Given the description of an element on the screen output the (x, y) to click on. 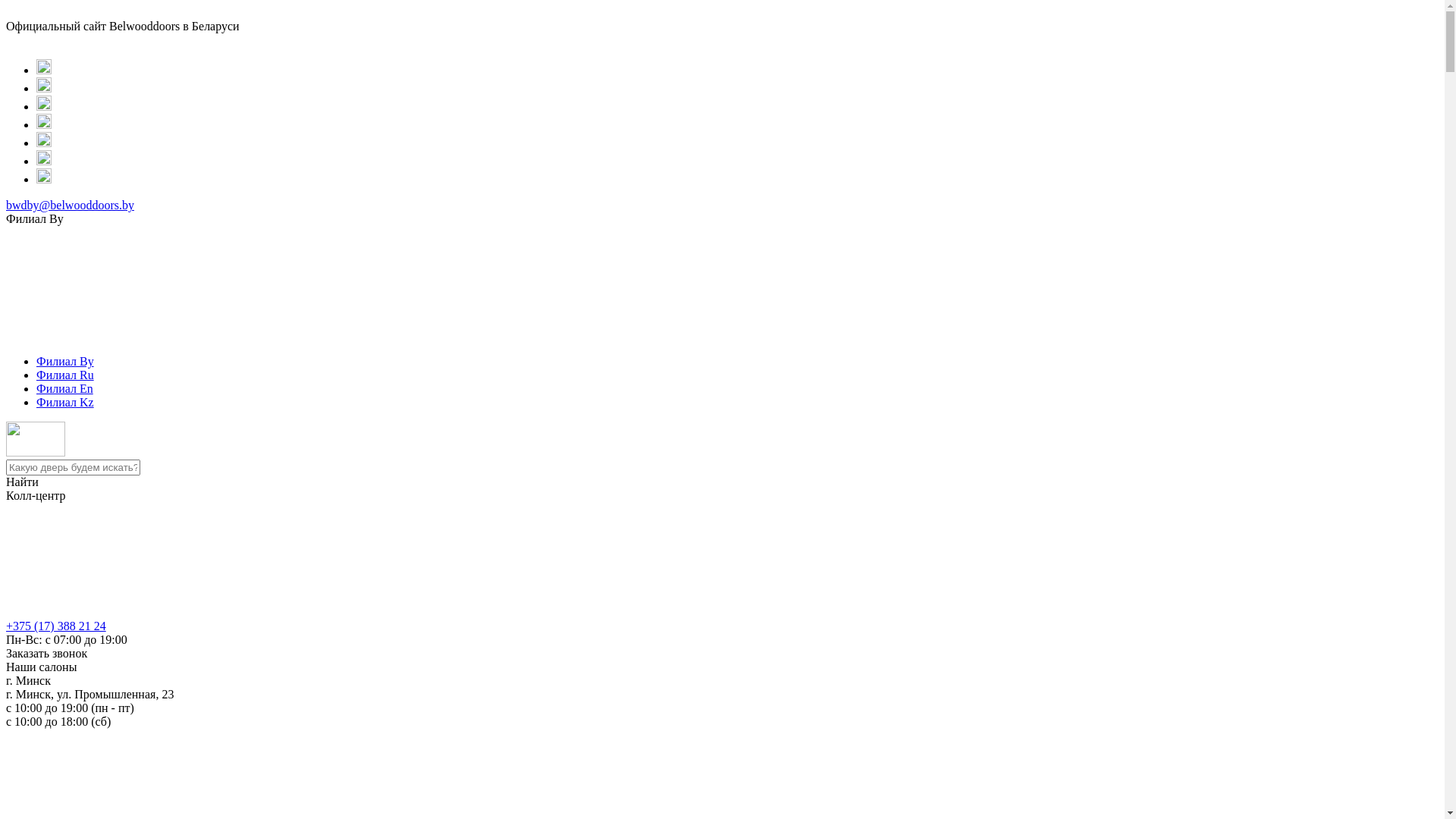
+375 (17) 388 21 24 Element type: text (56, 625)
bwdby@belwooddoors.by Element type: text (70, 204)
